Given the description of an element on the screen output the (x, y) to click on. 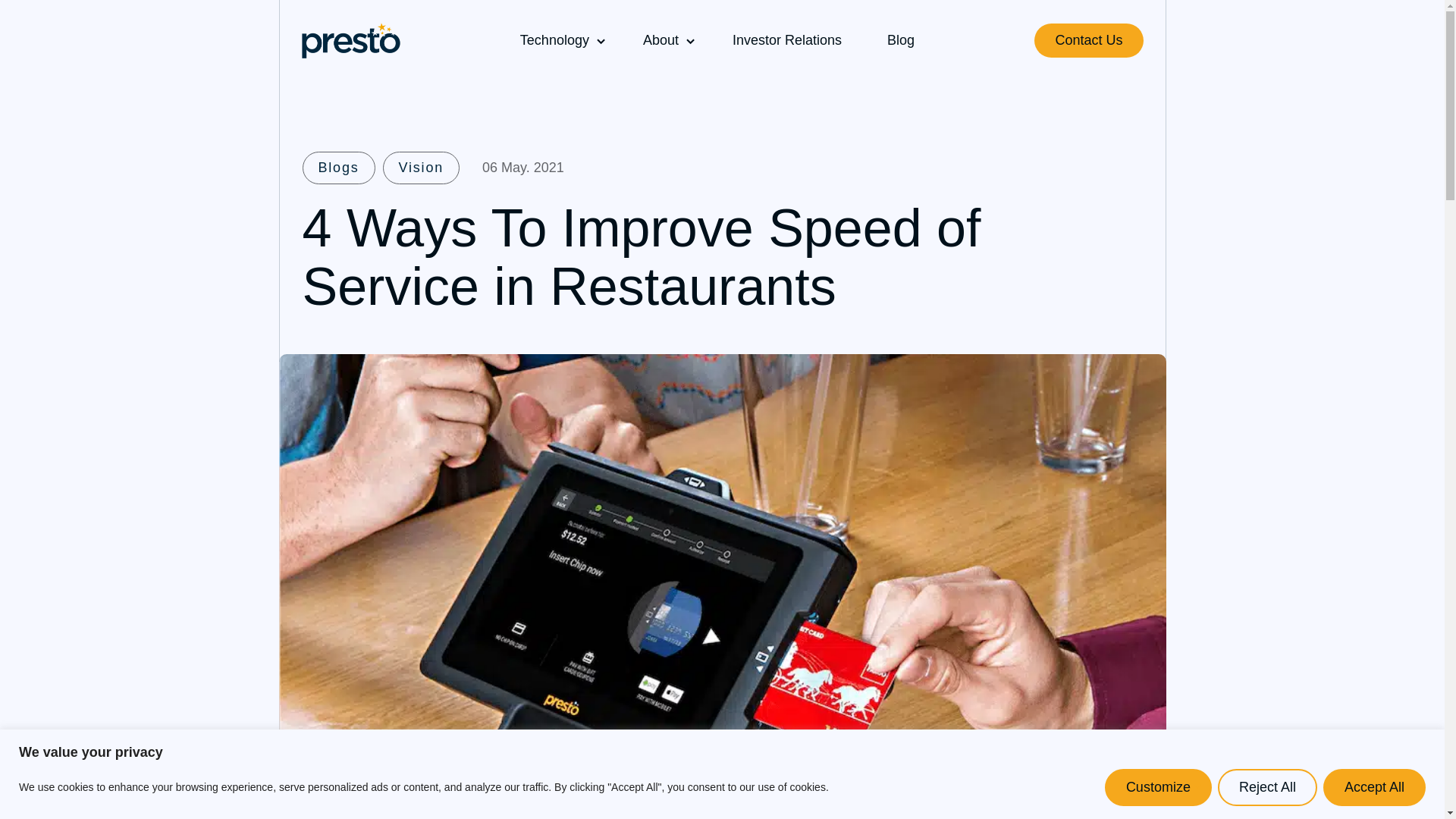
Technology (554, 40)
Contact Us (1087, 40)
Reject All (1267, 787)
About (659, 40)
Vision (421, 167)
Customize (1158, 787)
Investor Relations (786, 40)
Blogs (337, 167)
Accept All (1374, 787)
Blog (900, 40)
